Given the description of an element on the screen output the (x, y) to click on. 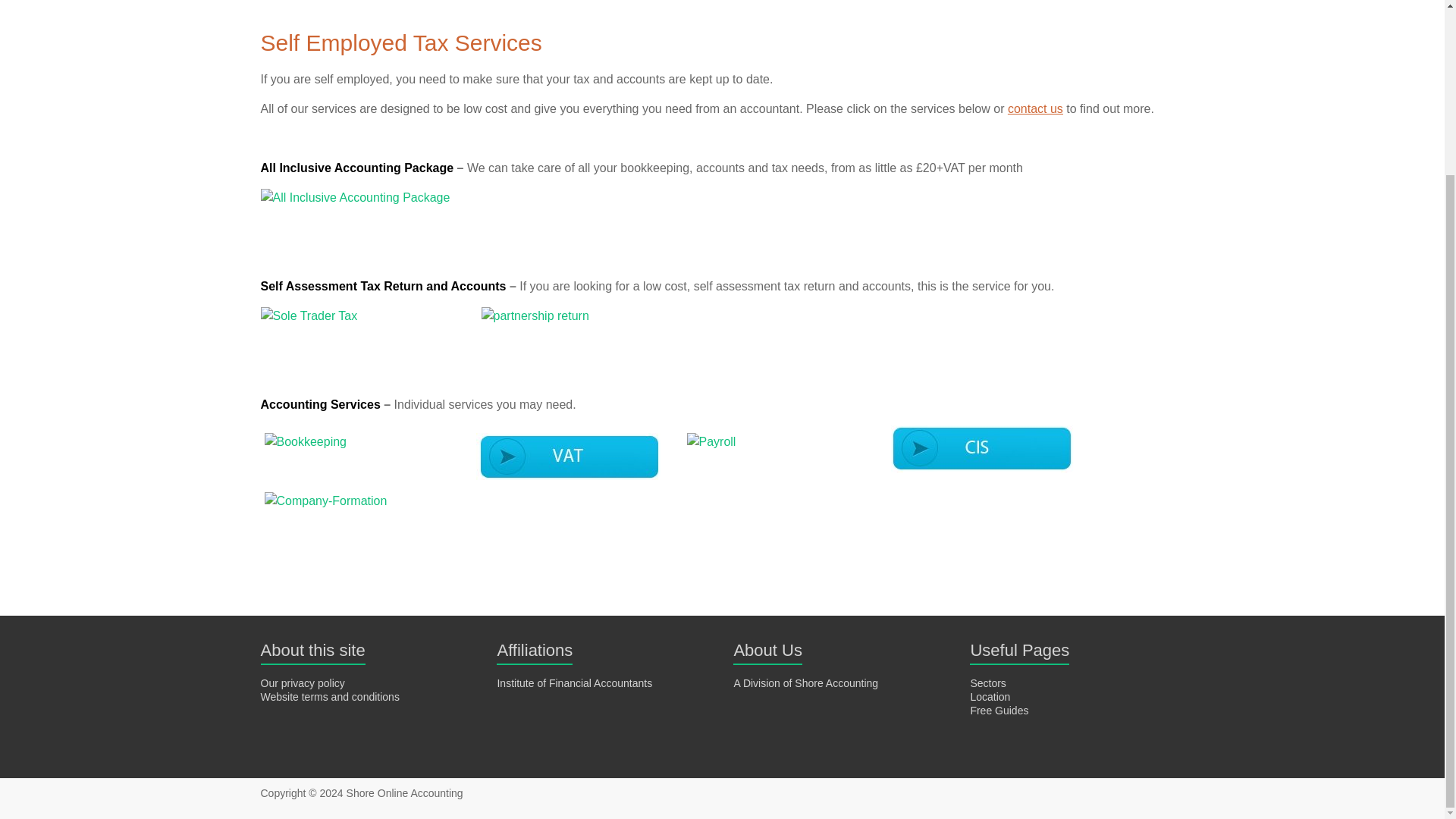
contact us (1034, 108)
Website terms and conditions (329, 696)
Contact Us (1034, 108)
Our privacy policy (302, 683)
Website Terms and Conditions (329, 696)
Institute of Financial Accountants (574, 683)
Institute of Financial Accountants (574, 683)
A Division of Shore Accounting (805, 683)
Location (989, 696)
Shore Online Accounting (404, 793)
Free Guides (998, 710)
Sectors (987, 683)
Our Privacy Policy (302, 683)
